Given the description of an element on the screen output the (x, y) to click on. 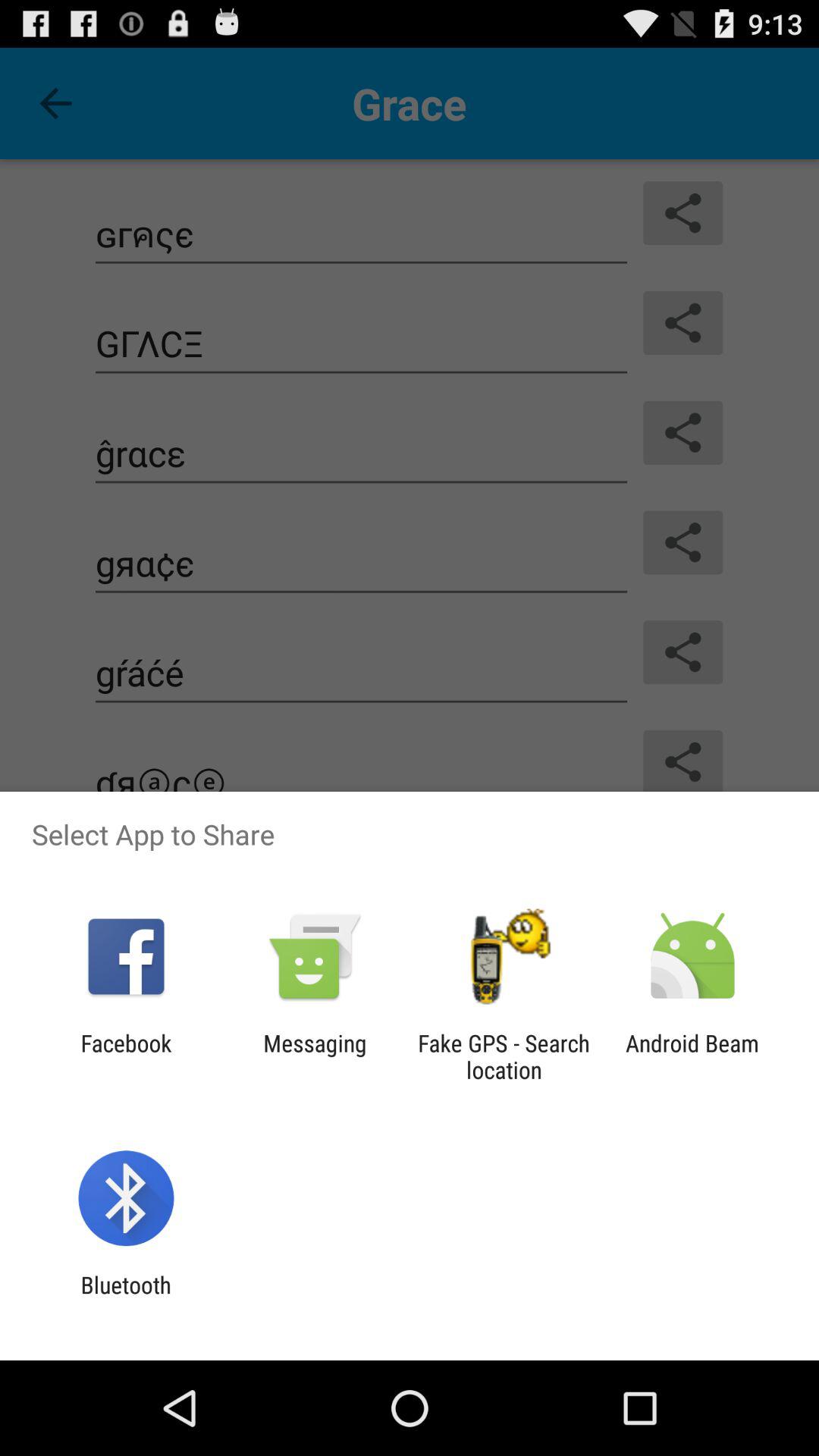
open facebook item (125, 1056)
